Given the description of an element on the screen output the (x, y) to click on. 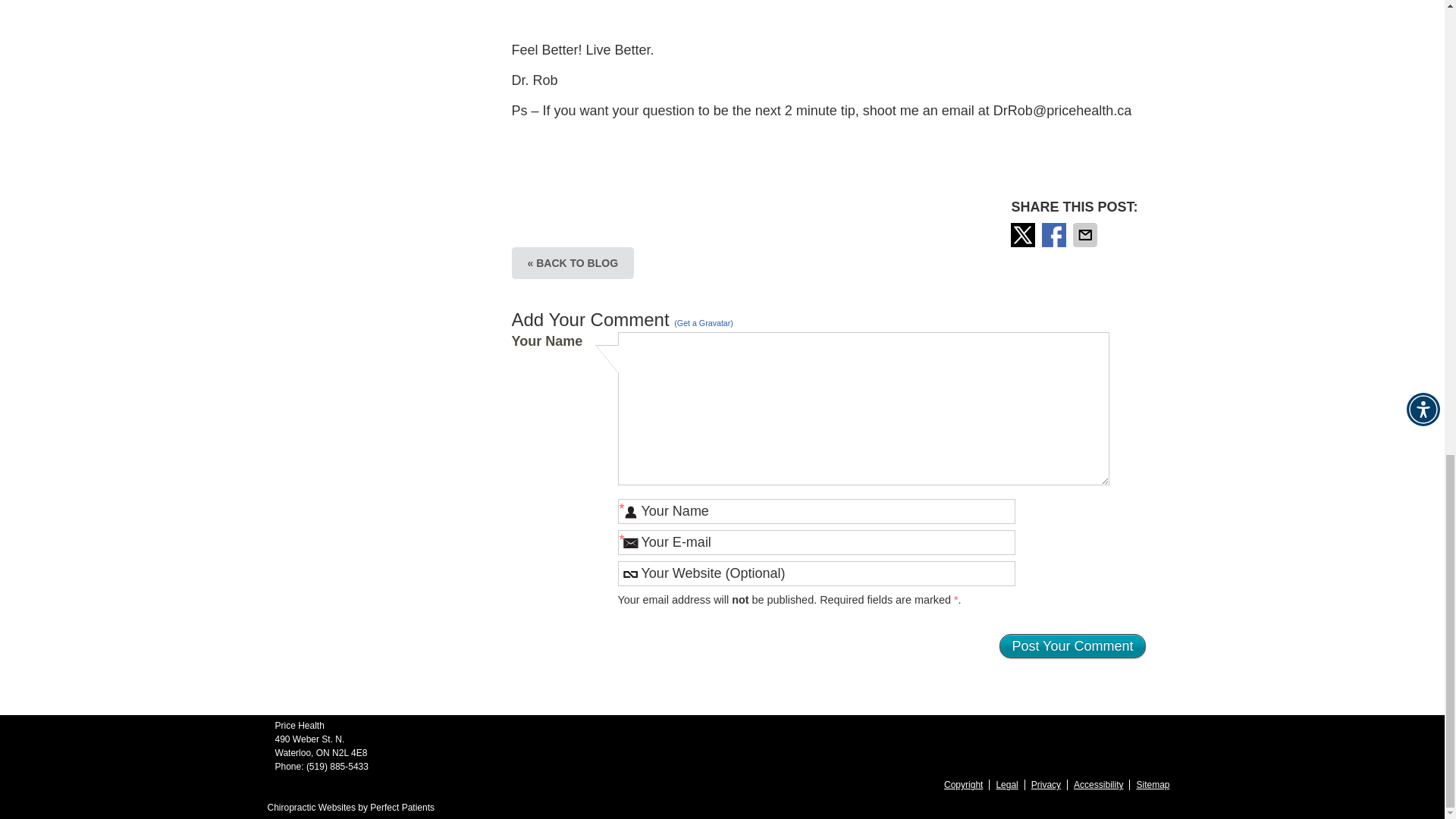
Your Name (815, 511)
Footer Links (1053, 784)
Post Your Comment (1071, 645)
Your E-mail (815, 542)
Your E-mail (815, 542)
Your Name (815, 511)
